Given the description of an element on the screen output the (x, y) to click on. 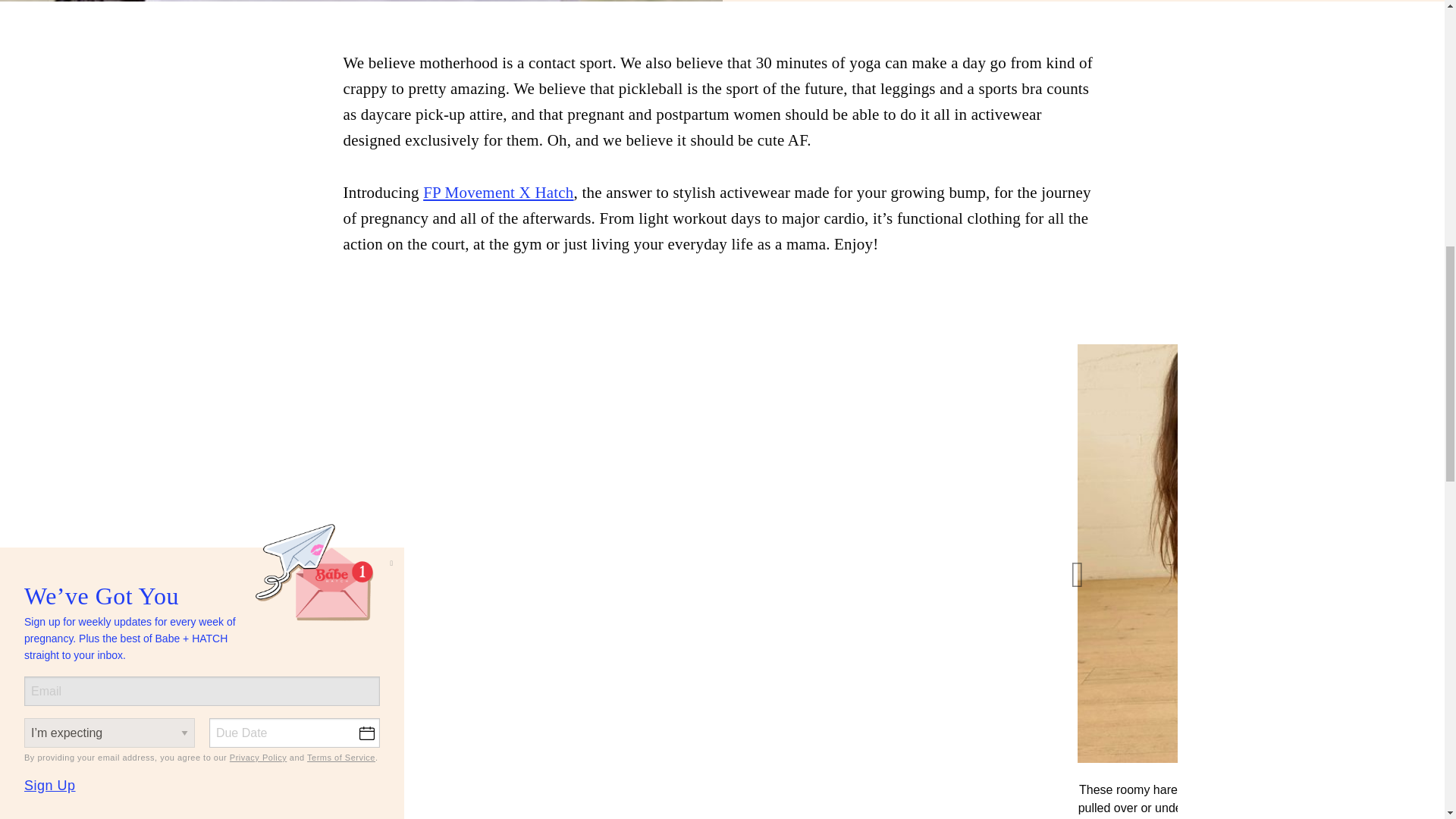
FP Movement X Hatch (498, 192)
